Given the description of an element on the screen output the (x, y) to click on. 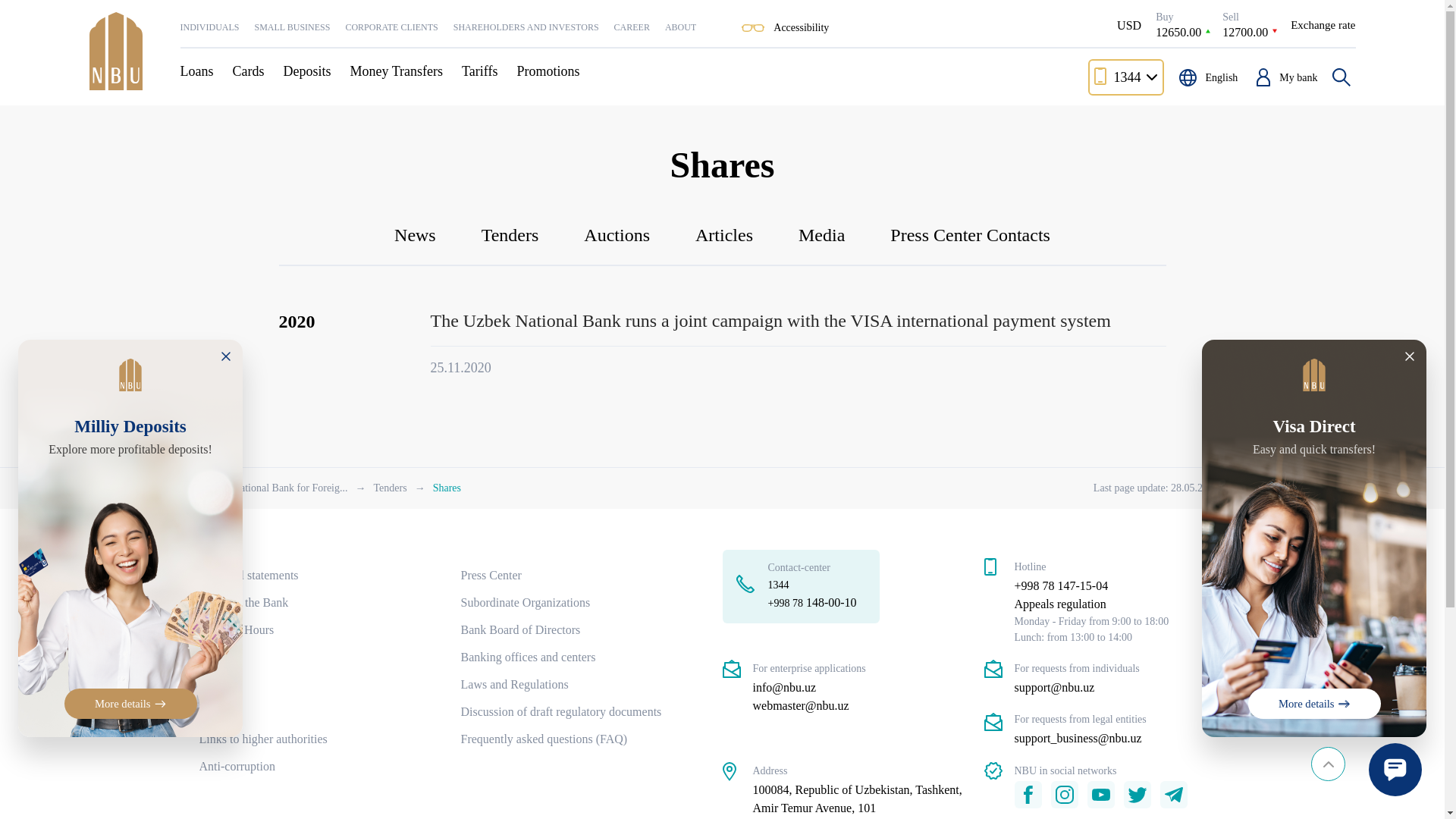
More details (1245, 24)
Exchange rate (1313, 703)
SHAREHOLDERS AND INVESTORS (1322, 25)
INDIVIDUALS (525, 35)
CAREER (210, 35)
Loans (631, 35)
ABOUT (203, 71)
CORPORATE CLIENTS (680, 35)
Accessibility (391, 35)
